Given the description of an element on the screen output the (x, y) to click on. 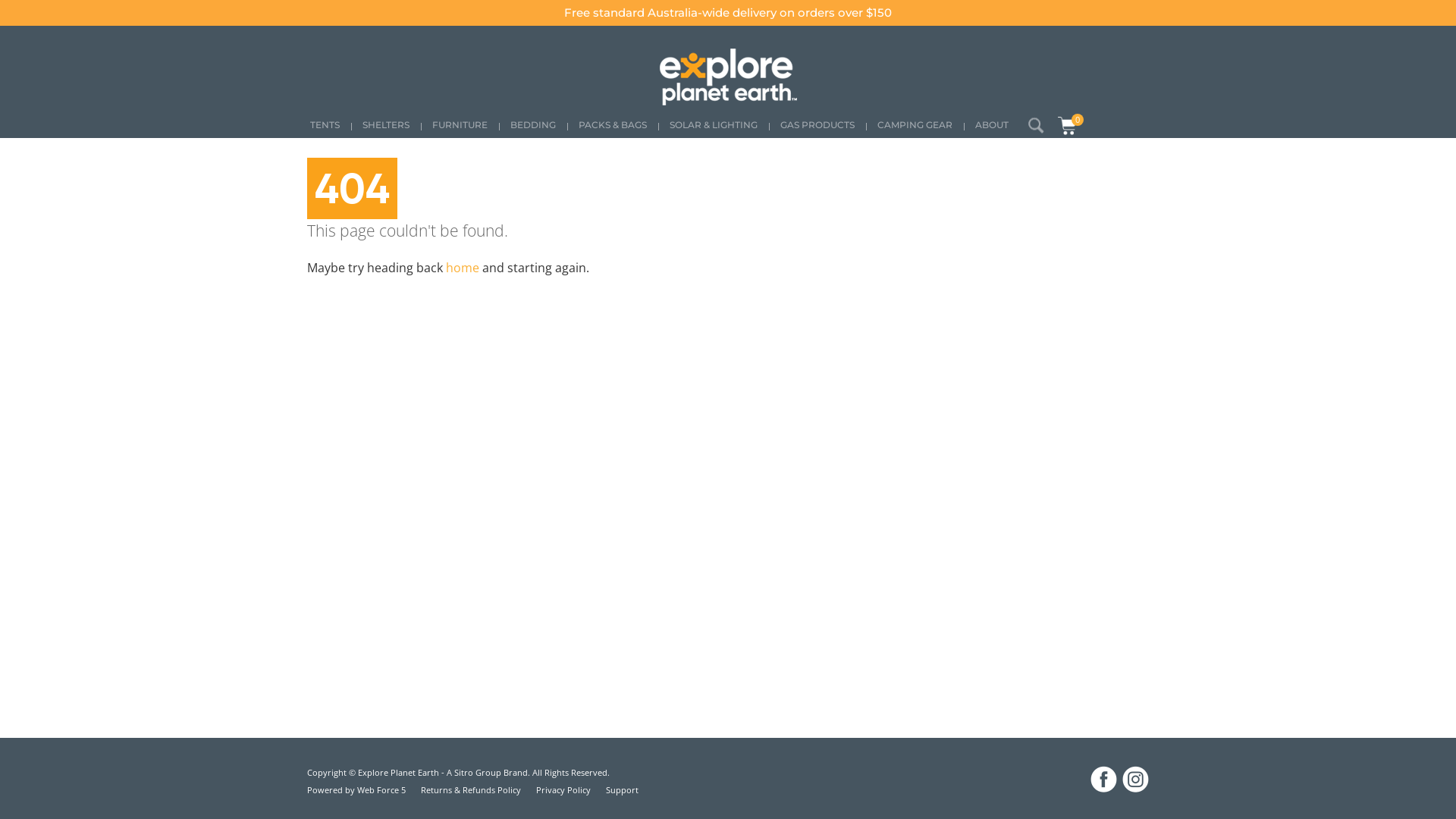
SHELTERS Element type: text (385, 125)
CAMPING GEAR Element type: text (914, 125)
Returns & Refunds Policy Element type: text (470, 790)
GAS PRODUCTS Element type: text (817, 125)
TENTS Element type: text (329, 125)
0 Element type: text (1066, 125)
ABOUT Element type: text (991, 125)
SOLAR & LIGHTING Element type: text (713, 125)
home Element type: text (462, 267)
PACKS & BAGS Element type: text (612, 125)
Powered by Web Force 5 Element type: text (356, 790)
Privacy Policy Element type: text (563, 790)
BEDDING Element type: text (532, 125)
FURNITURE Element type: text (459, 125)
Support Element type: text (621, 790)
